Given the description of an element on the screen output the (x, y) to click on. 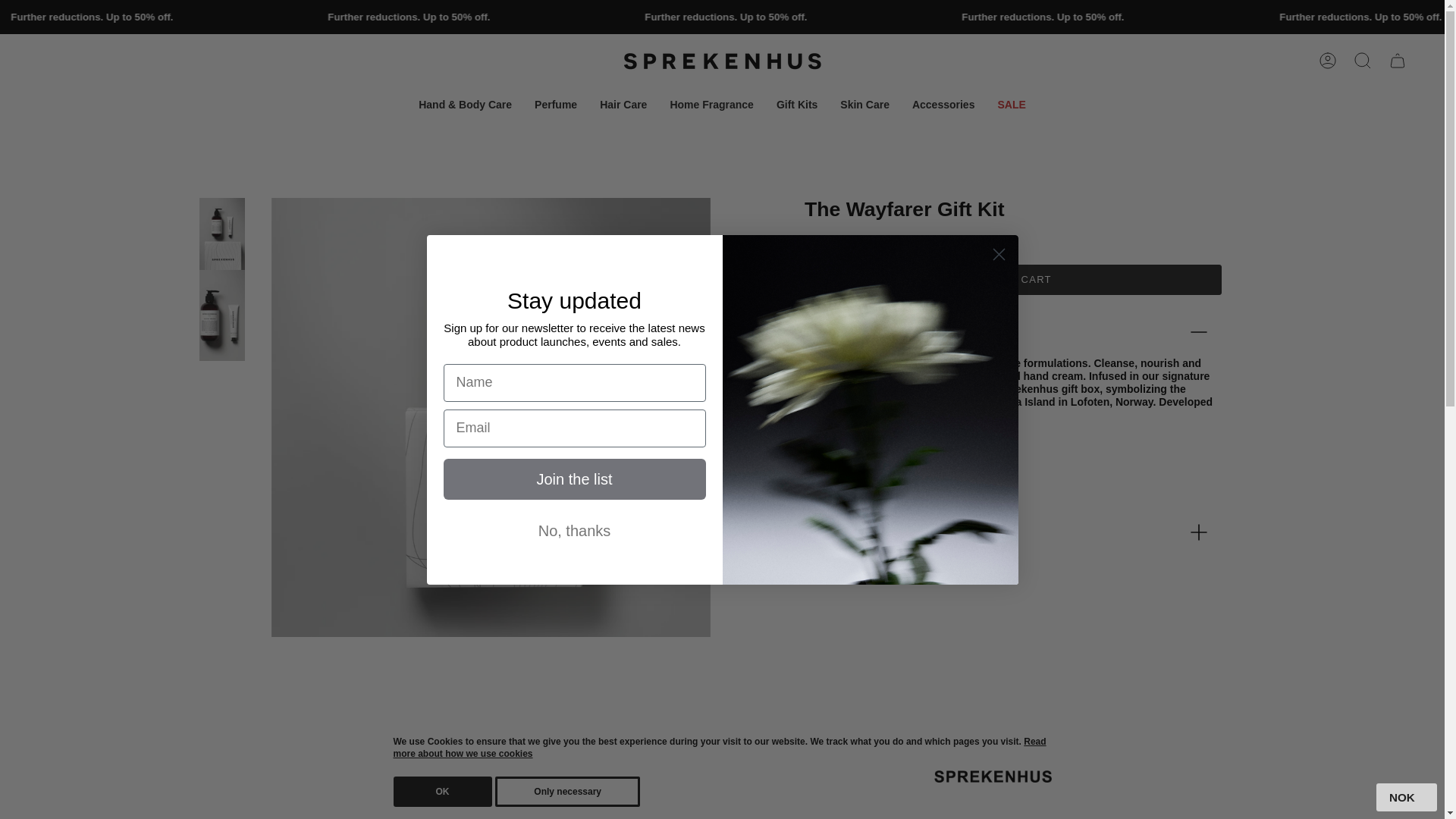
Only necessary (567, 791)
OK (442, 791)
Gift Kits (796, 104)
Hair Care (623, 104)
Home Fragrance (711, 104)
Accessories (944, 104)
Skin Care (864, 104)
Close dialog 1 (998, 253)
Read more about how we use cookies (719, 747)
SALE (1010, 104)
Perfume (555, 104)
